Given the description of an element on the screen output the (x, y) to click on. 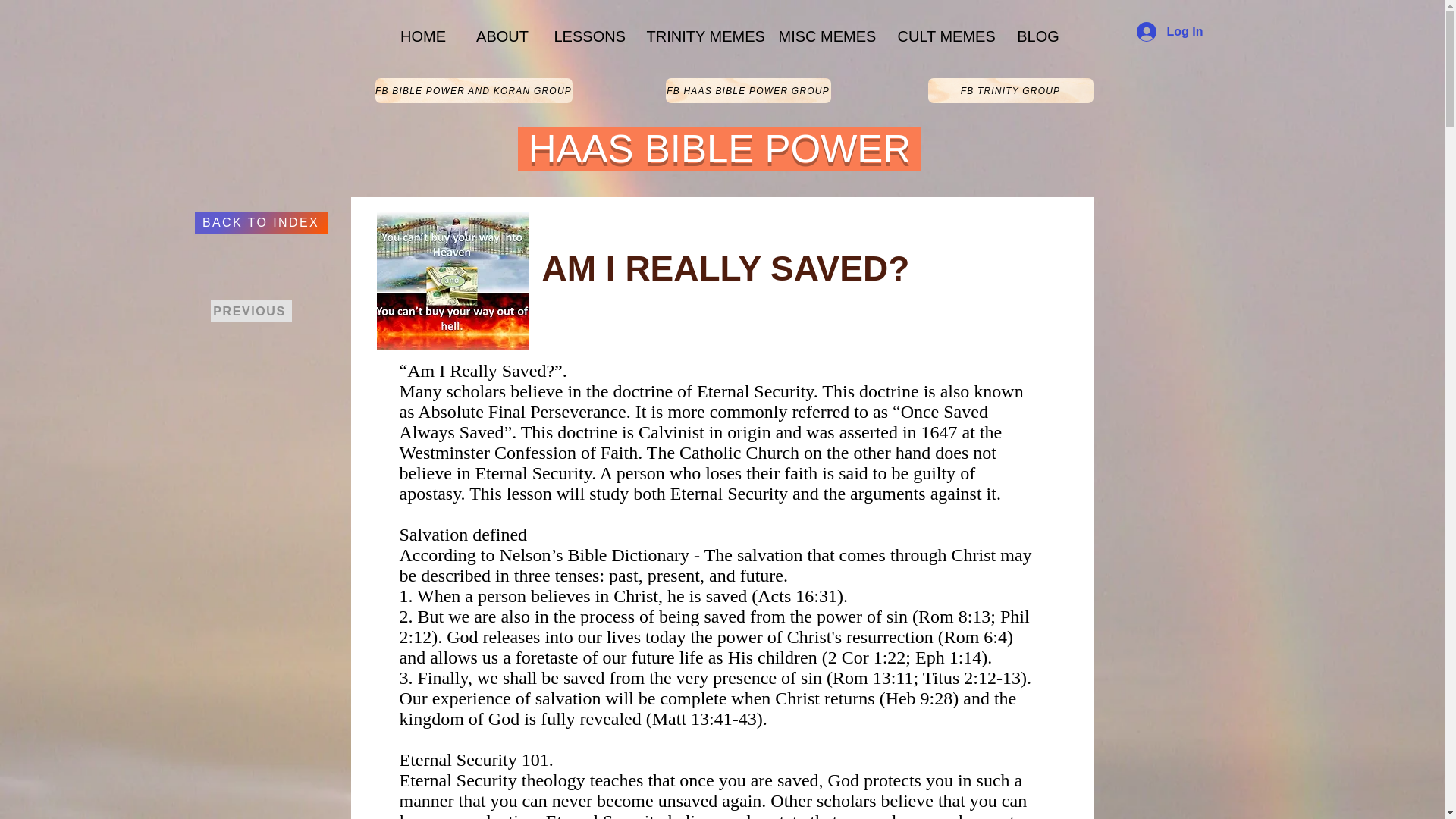
FB BIBLE POWER AND KORAN GROUP (473, 90)
MONEY CANT BUY SALVATION.jpg (451, 280)
BACK TO INDEX (259, 222)
BLOG (1037, 36)
HOME (422, 36)
Log In (1169, 31)
FB TRINITY GROUP (1010, 90)
ABOUT (503, 36)
PREVIOUS (251, 311)
FB HAAS BIBLE POWER GROUP (748, 90)
